Given the description of an element on the screen output the (x, y) to click on. 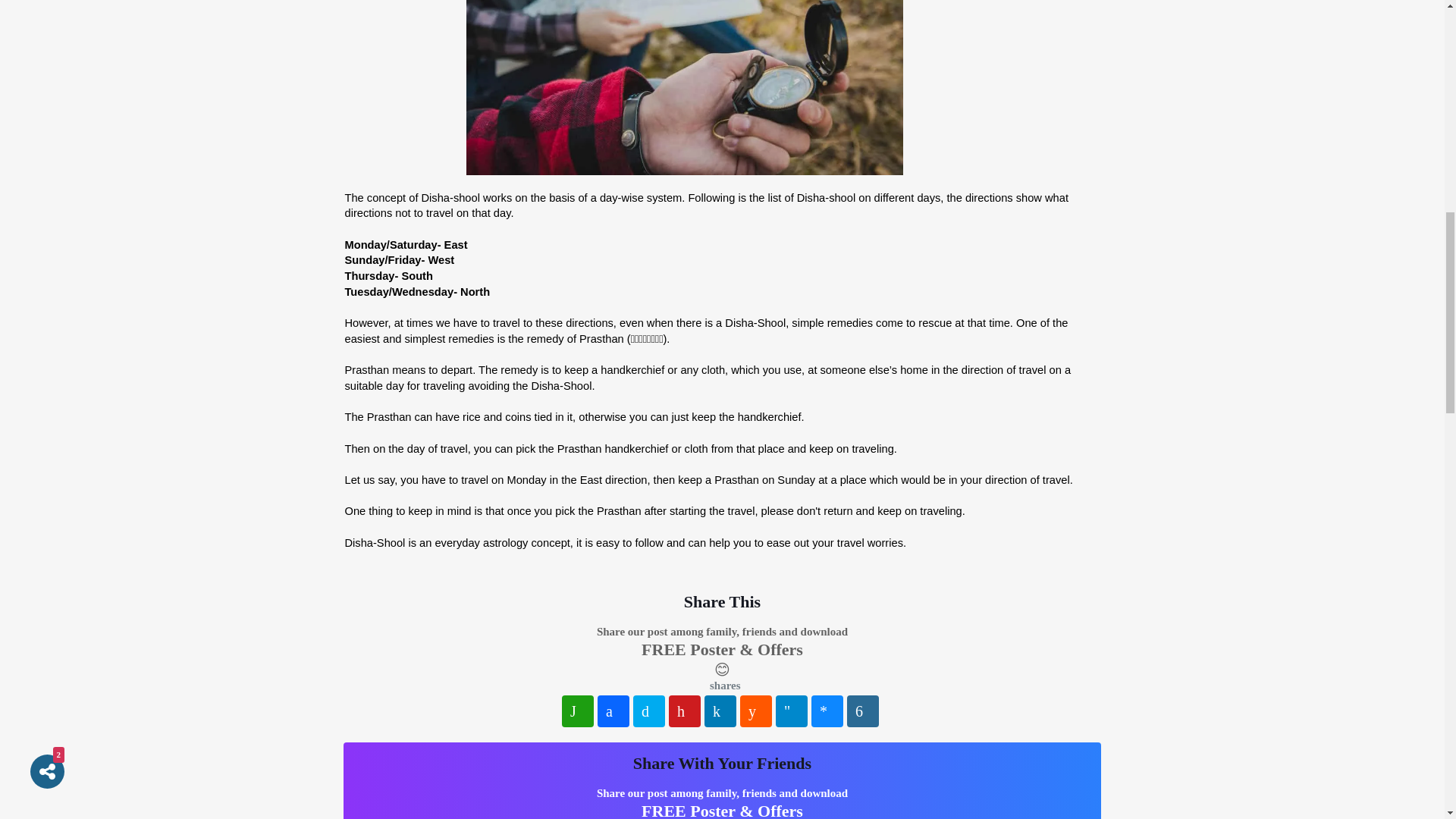
Share on Facebook (612, 711)
Share on WhatsApp (578, 711)
Share on Twitter (649, 711)
Share on Pinterest (684, 711)
